Given the description of an element on the screen output the (x, y) to click on. 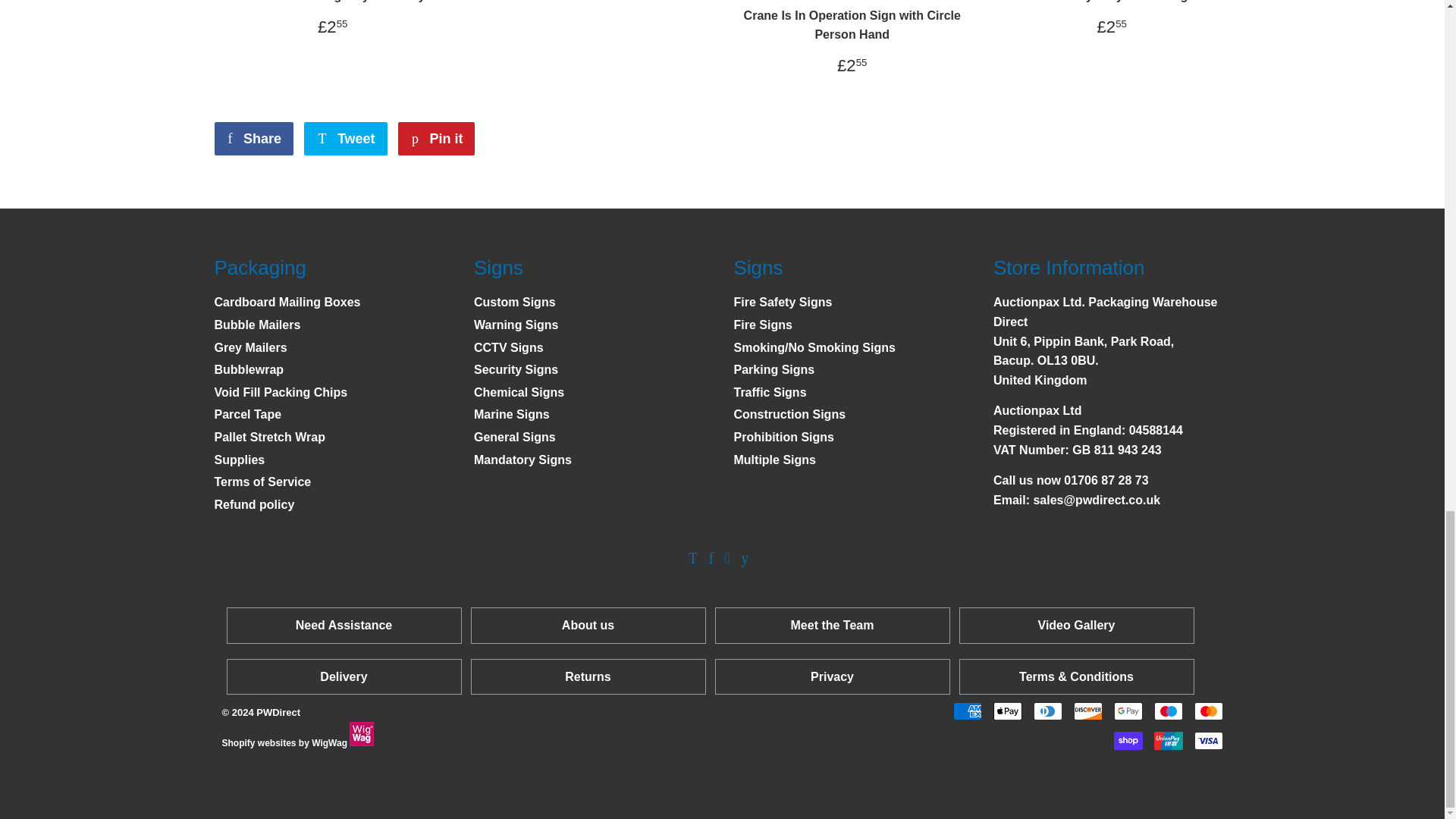
About us (588, 625)
Union Pay (1168, 741)
Pin on Pinterest (435, 138)
Need Assistance (343, 625)
Discover (1088, 710)
Maestro (1168, 710)
Meet the Team (832, 625)
Apple Pay (1007, 710)
Shopify websites by WigWag (361, 733)
Privacy (831, 676)
